Given the description of an element on the screen output the (x, y) to click on. 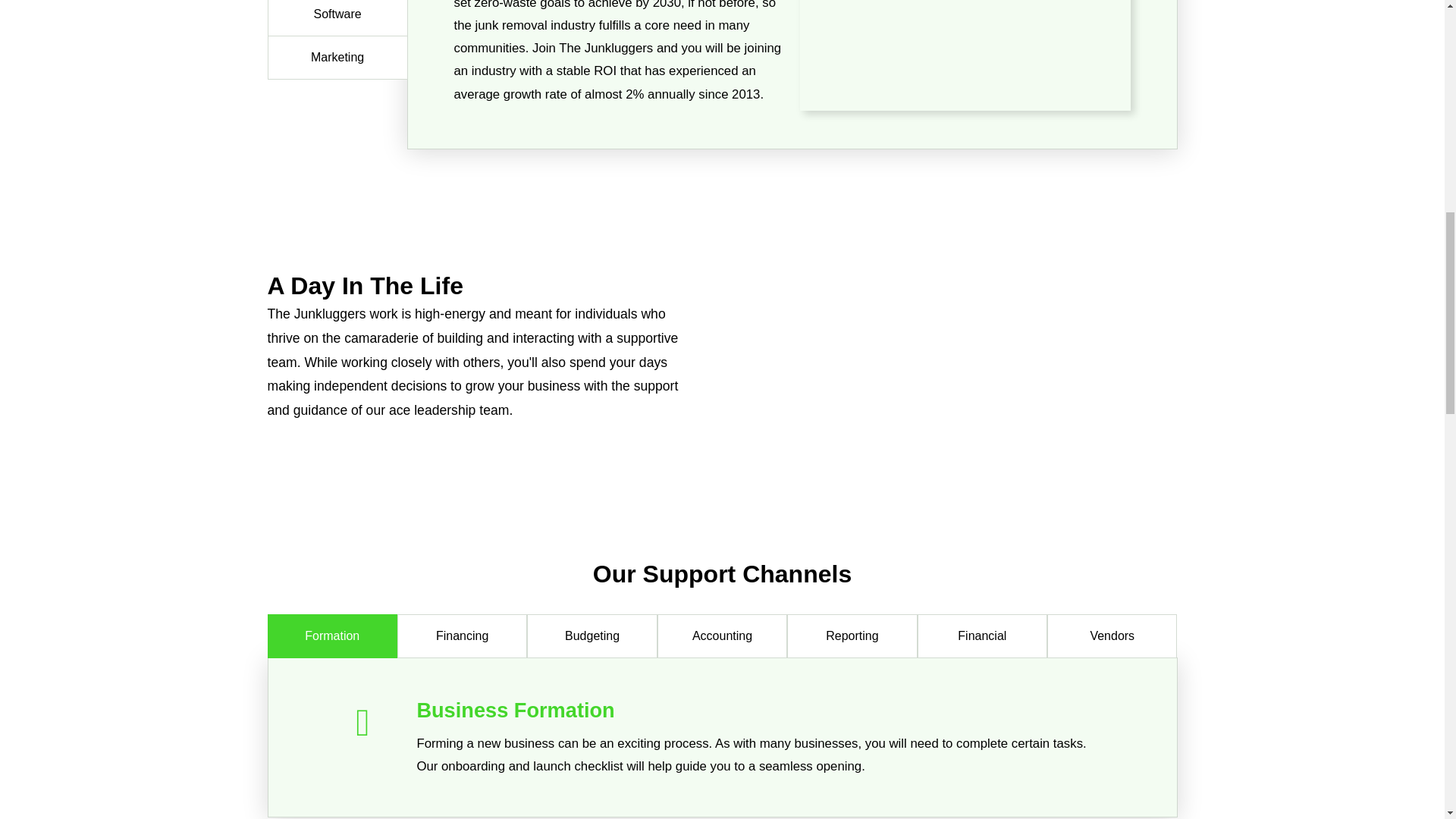
Marketing (336, 57)
Budgeting (591, 636)
Formation (332, 636)
Vendors (1111, 636)
Financial (981, 636)
Reporting (852, 636)
Financing (462, 636)
Software (336, 18)
Accounting (722, 636)
A Day In The Life (962, 345)
